Given the description of an element on the screen output the (x, y) to click on. 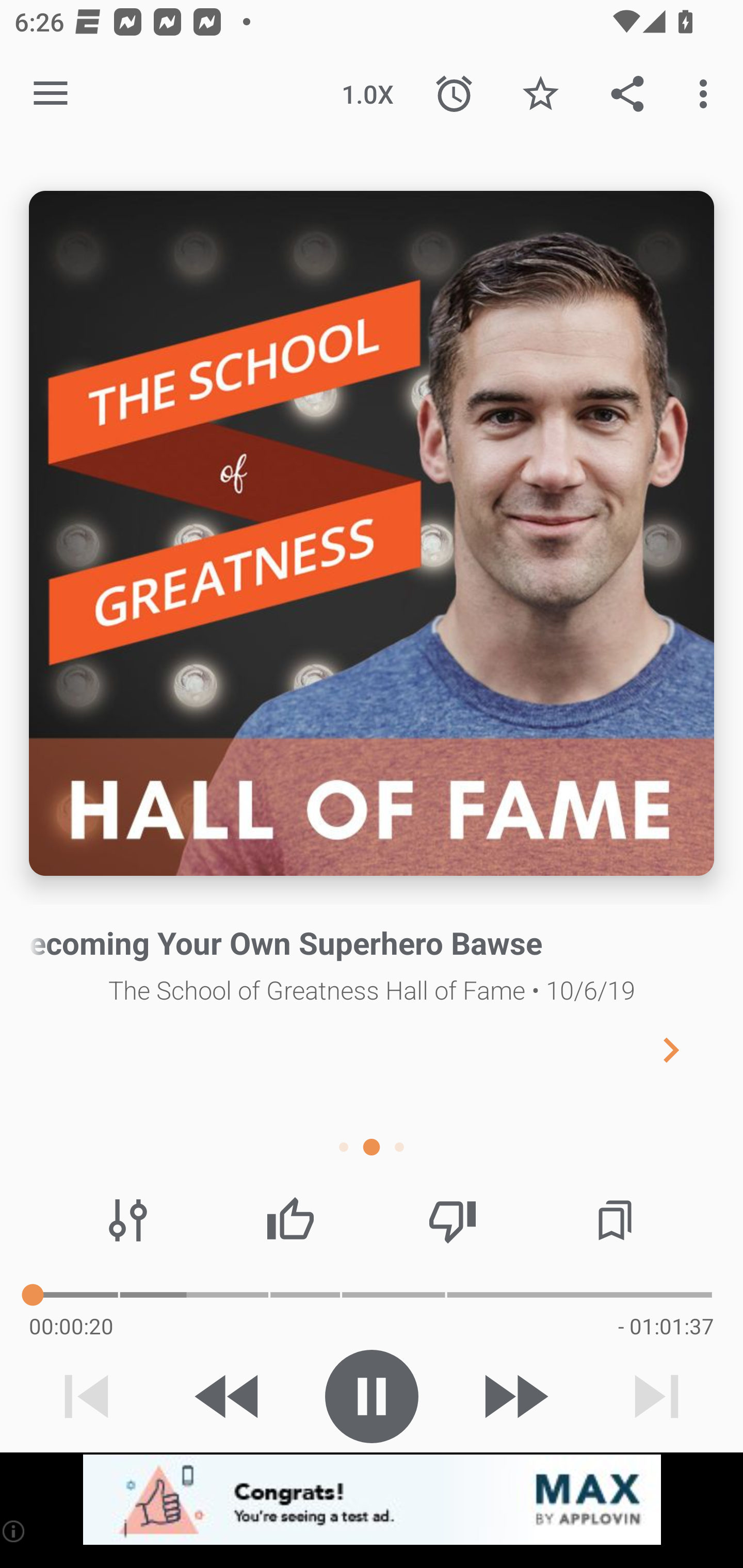
Open navigation sidebar (50, 93)
1.0X (366, 93)
Sleep Timer (453, 93)
Favorite (540, 93)
Share (626, 93)
More options (706, 93)
Episode description (371, 533)
Next Chapter (686, 1049)
Audio effects (127, 1220)
Thumbs up (290, 1220)
Thumbs down (452, 1220)
Chapters / Bookmarks (614, 1220)
- 01:01:37 (666, 1325)
Previous track (86, 1395)
Skip 15s backward (228, 1395)
Play / Pause (371, 1395)
Skip 30s forward (513, 1395)
Next track (656, 1395)
app-monetization (371, 1500)
(i) (14, 1531)
